Given the description of an element on the screen output the (x, y) to click on. 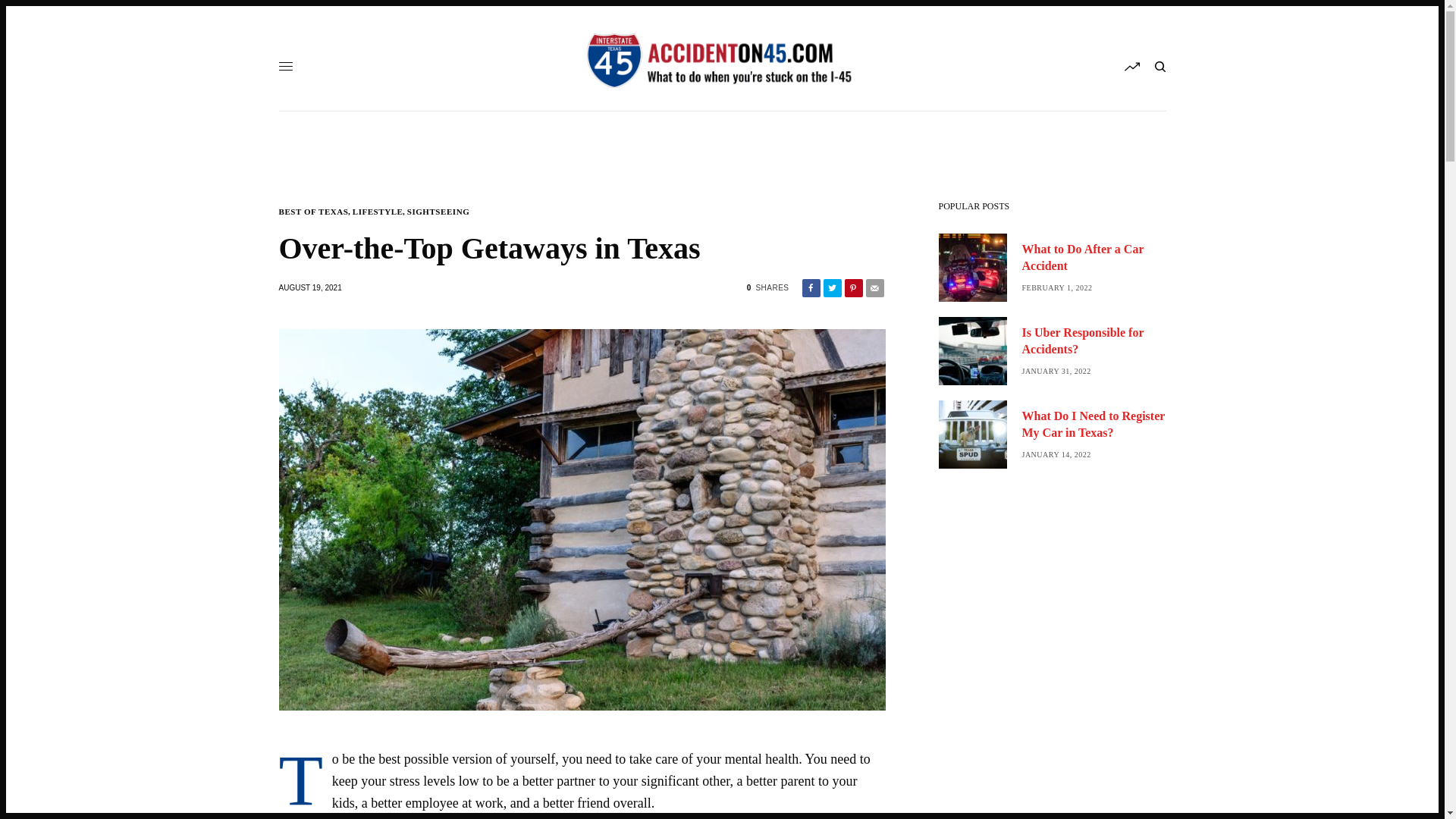
What Do I Need to Register My Car in Texas? (1094, 424)
What to Do After a Car Accident (1094, 257)
Accident on 45 (721, 60)
SIGHTSEEING (437, 212)
BEST OF TEXAS (314, 212)
Is Uber Responsible for Accidents? (1094, 341)
Is Uber Responsible for Accidents? (1094, 341)
What to Do After a Car Accident (1094, 257)
LIFESTYLE (377, 212)
